Given the description of an element on the screen output the (x, y) to click on. 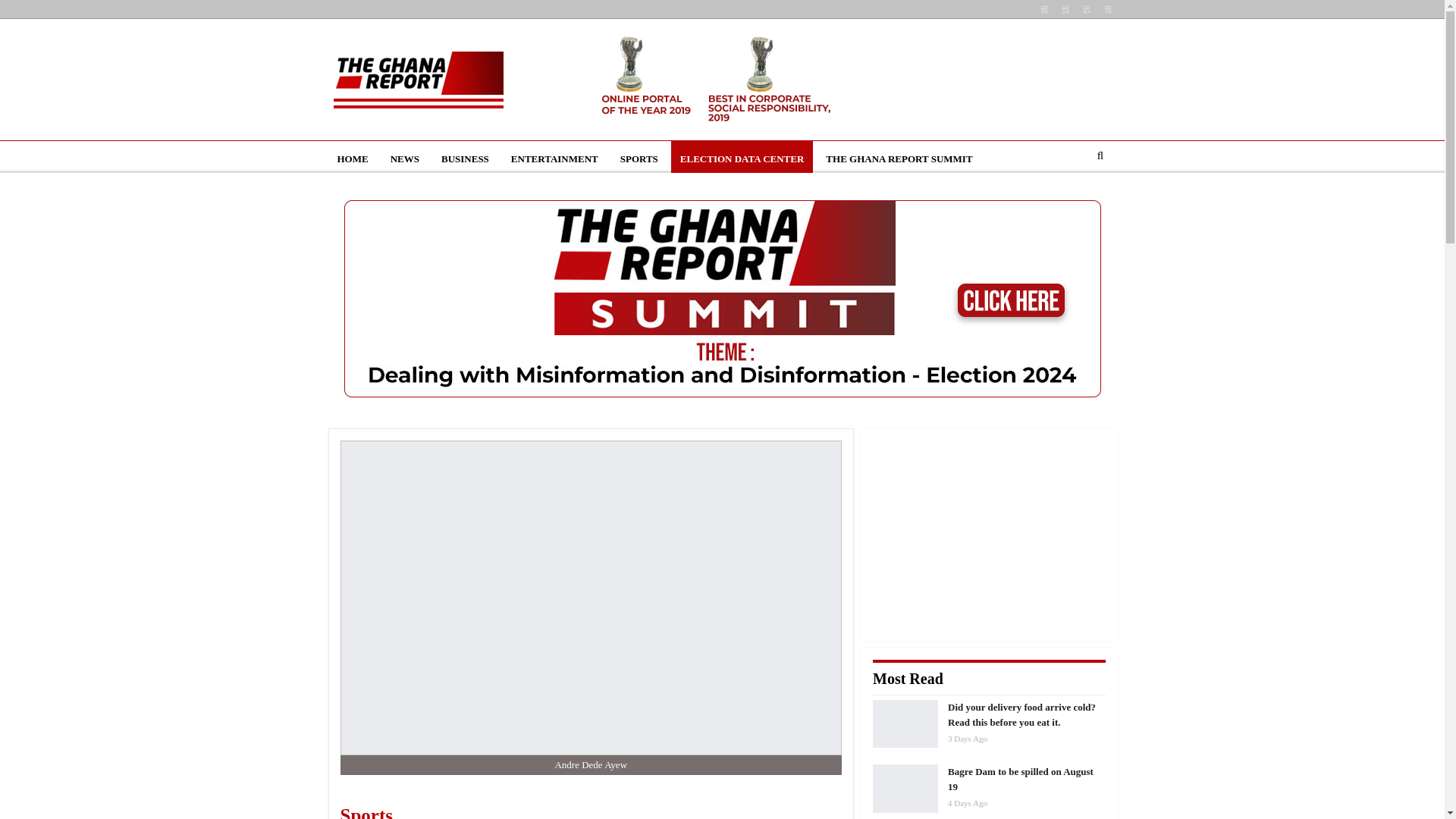
ENTERTAINMENT (554, 158)
BUSINESS (464, 158)
HOME (352, 158)
THE GHANA REPORT SUMMIT (898, 158)
ELECTION DATA CENTER (742, 158)
SPORTS (638, 158)
Bagre Dam to be spilled on August 19 (904, 788)
NEWS (404, 158)
Sports (453, 809)
